Given the description of an element on the screen output the (x, y) to click on. 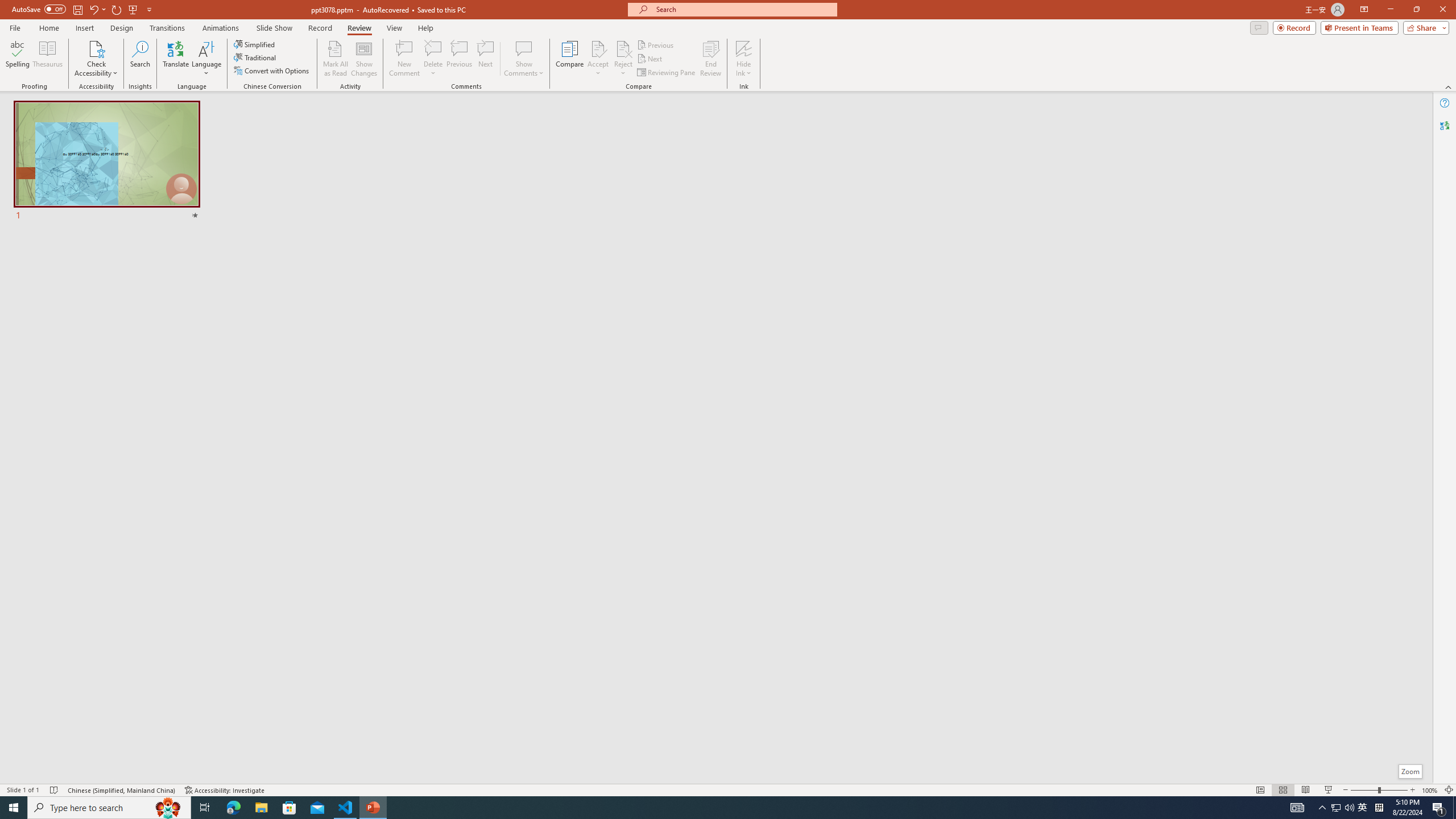
Spelling... (17, 58)
